Given the description of an element on the screen output the (x, y) to click on. 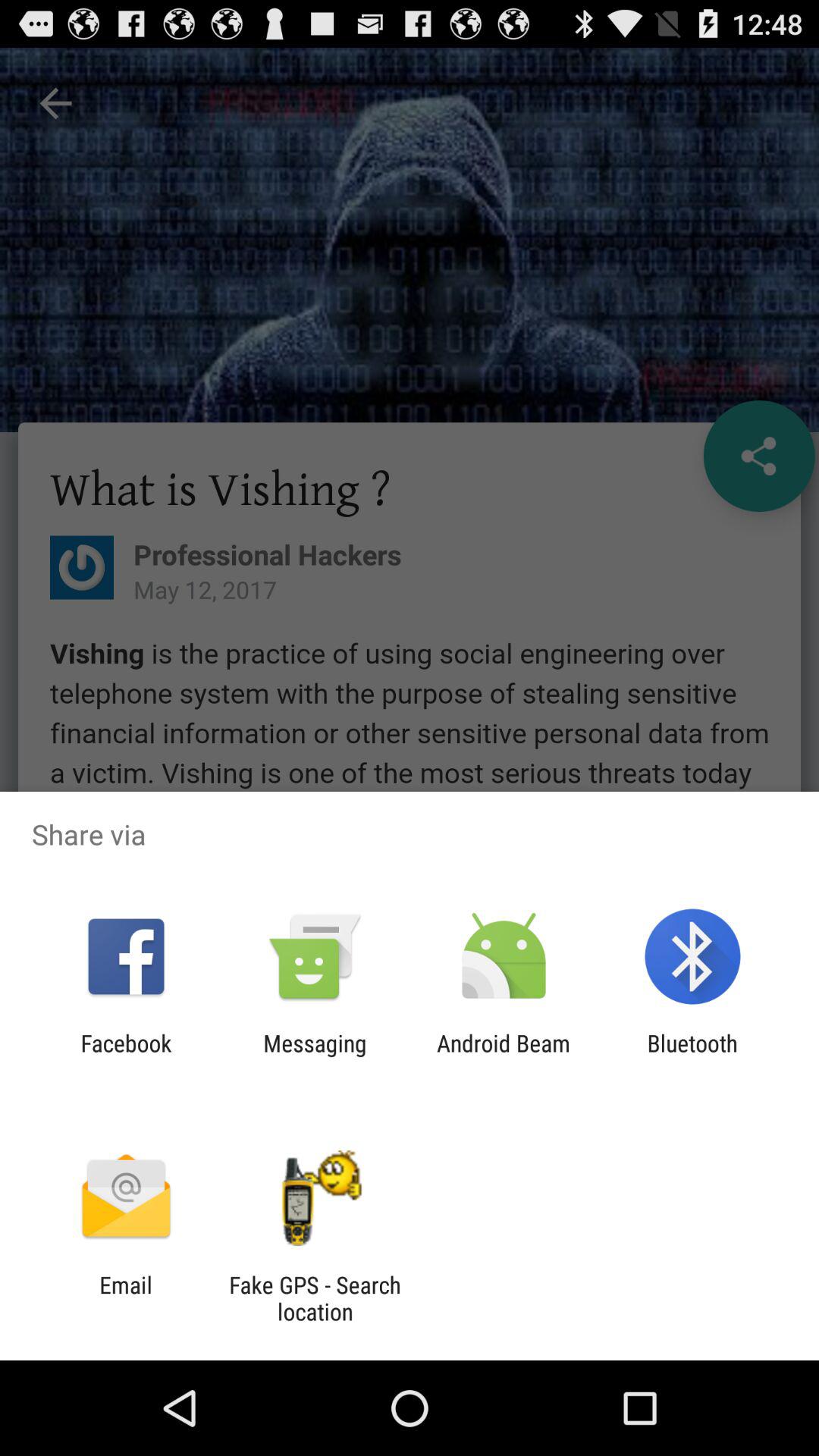
turn off email icon (125, 1298)
